Given the description of an element on the screen output the (x, y) to click on. 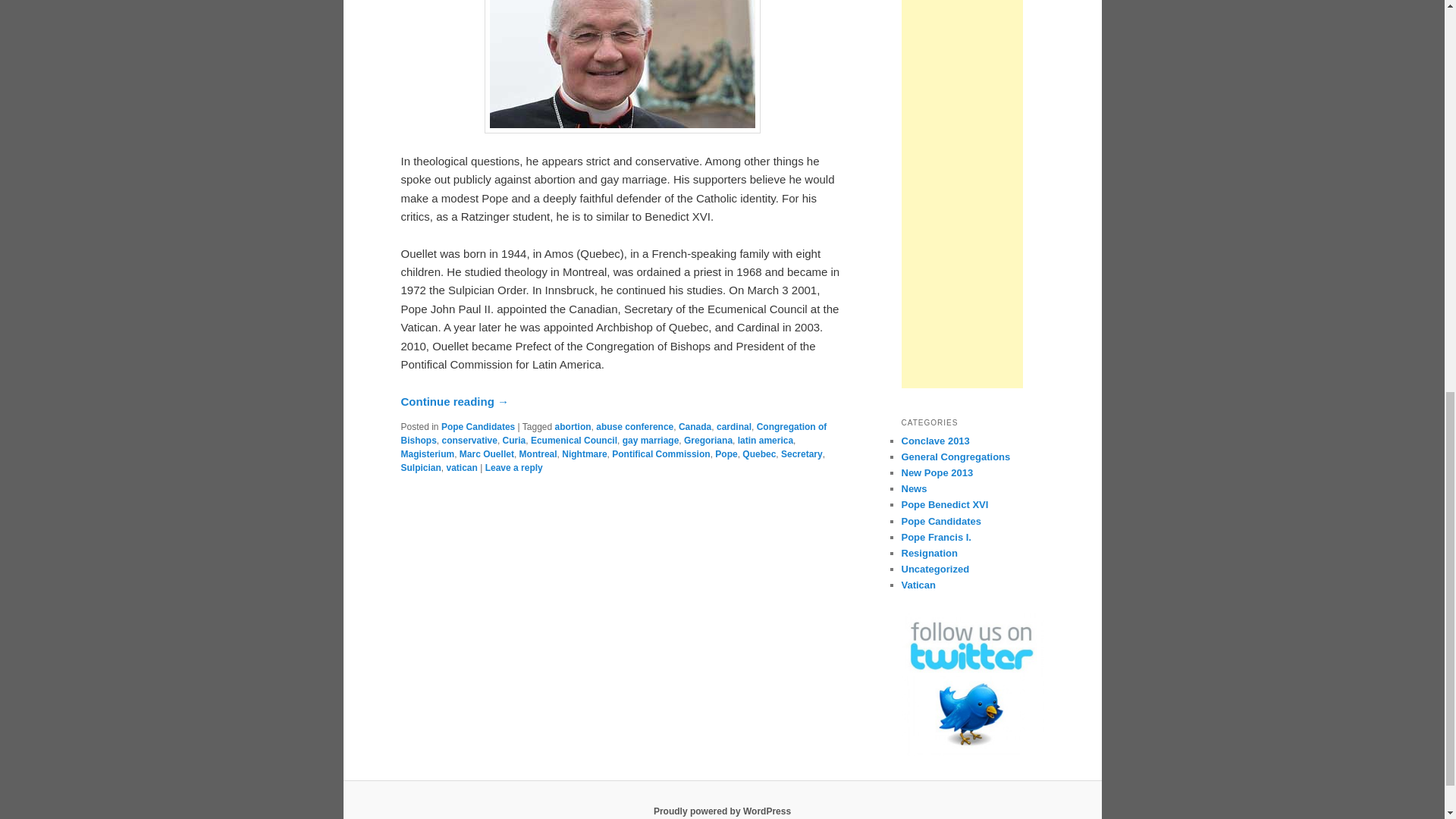
Leave a reply (513, 467)
Montreal (538, 453)
latin america (765, 439)
Quebec (759, 453)
Curia (513, 439)
gay marriage (651, 439)
Pope (725, 453)
Gregoriana (708, 439)
abuse conference (633, 426)
Pope Candidates (478, 426)
